Given the description of an element on the screen output the (x, y) to click on. 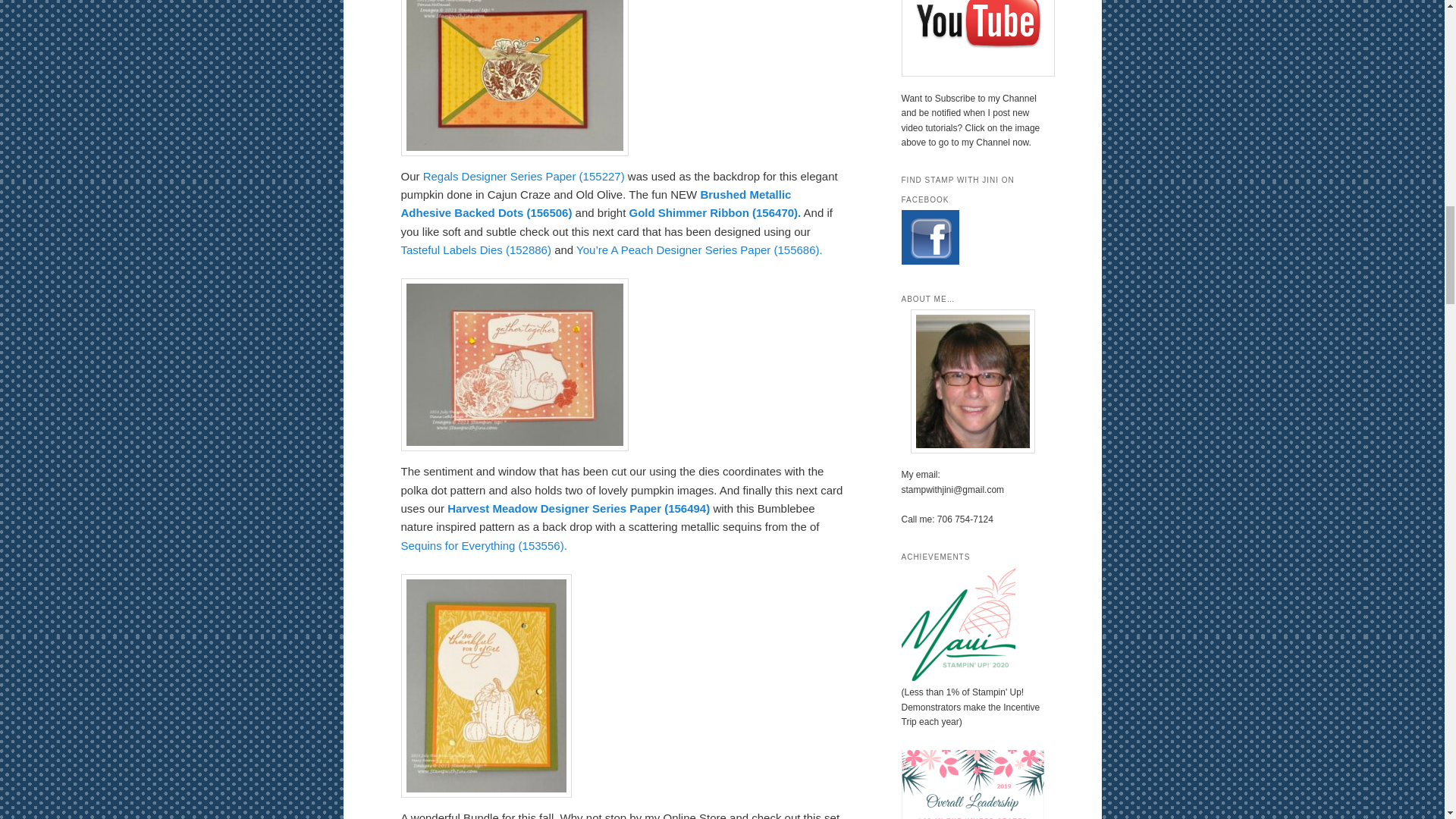
Find Stamp with Jini on facebook (929, 261)
Brushed Metallic Adhesive Ba (595, 203)
